Given the description of an element on the screen output the (x, y) to click on. 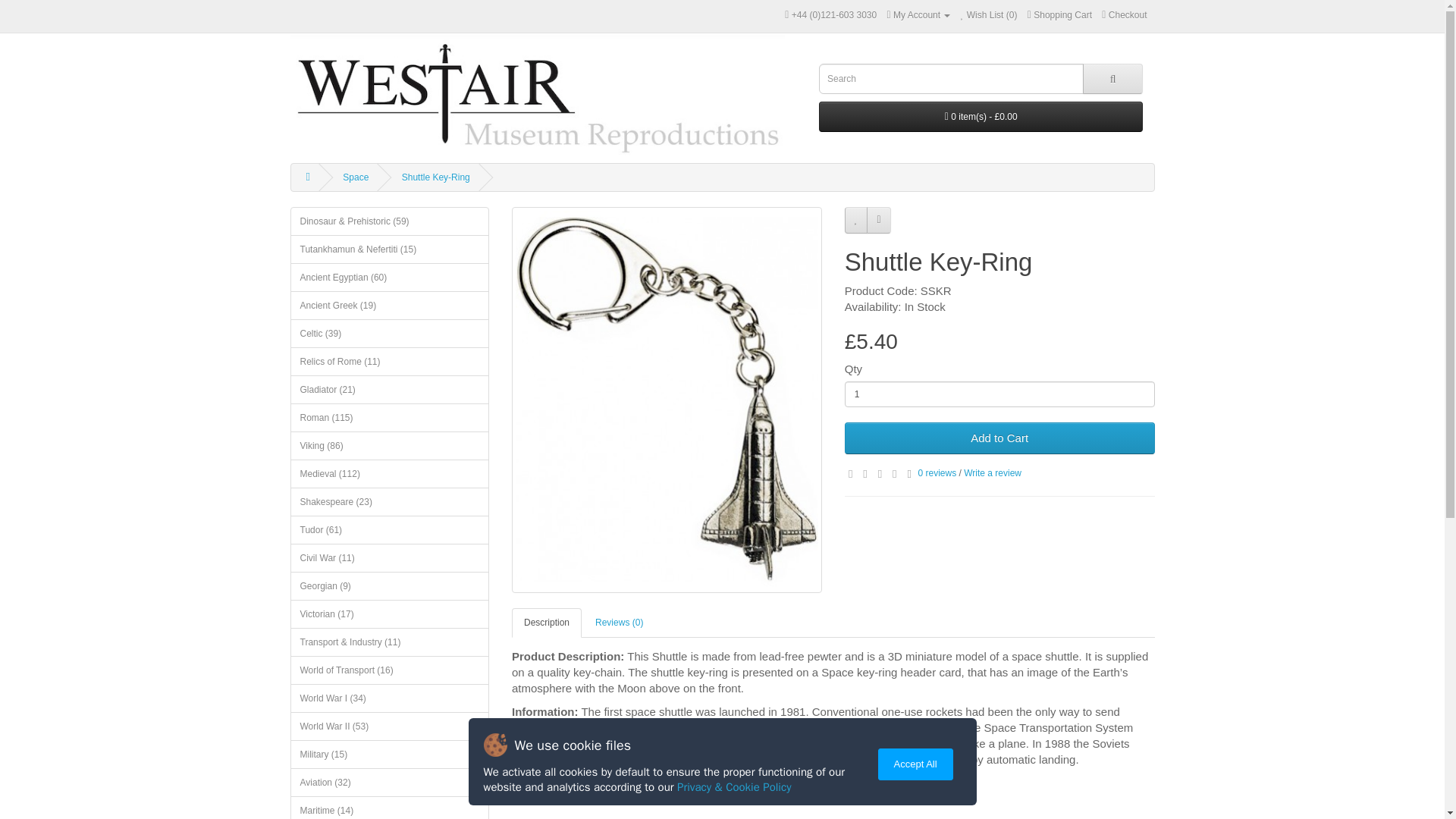
Westair Reproductions Ltd (536, 94)
Checkout (1124, 14)
1 (999, 394)
My Account (918, 14)
Checkout (1124, 14)
Shopping Cart (1059, 14)
My Account (918, 14)
Shopping Cart (1059, 14)
